Given the description of an element on the screen output the (x, y) to click on. 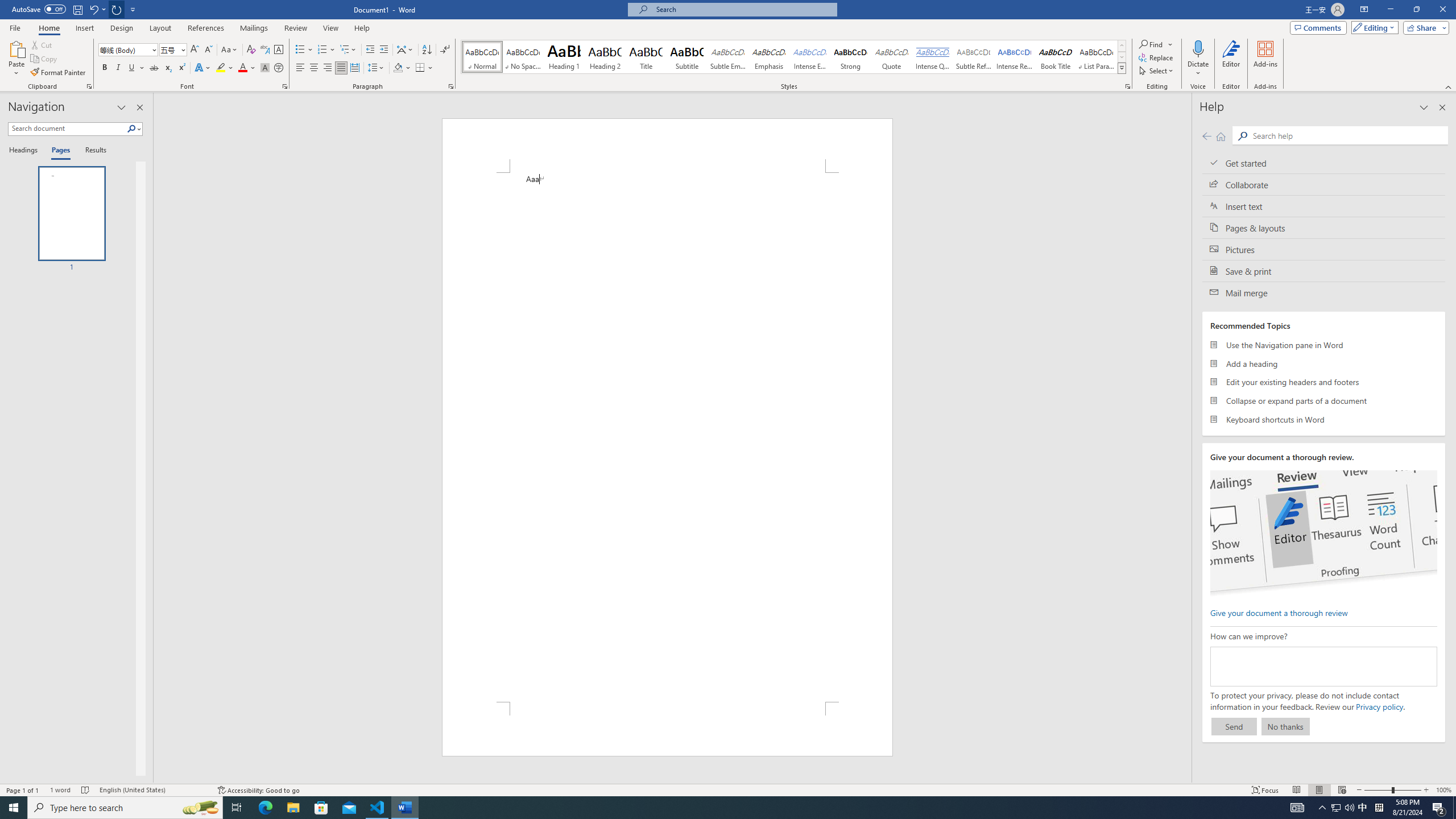
Font Color Red (241, 67)
Collapse or expand parts of a document (1323, 400)
Strong (849, 56)
